Given the description of an element on the screen output the (x, y) to click on. 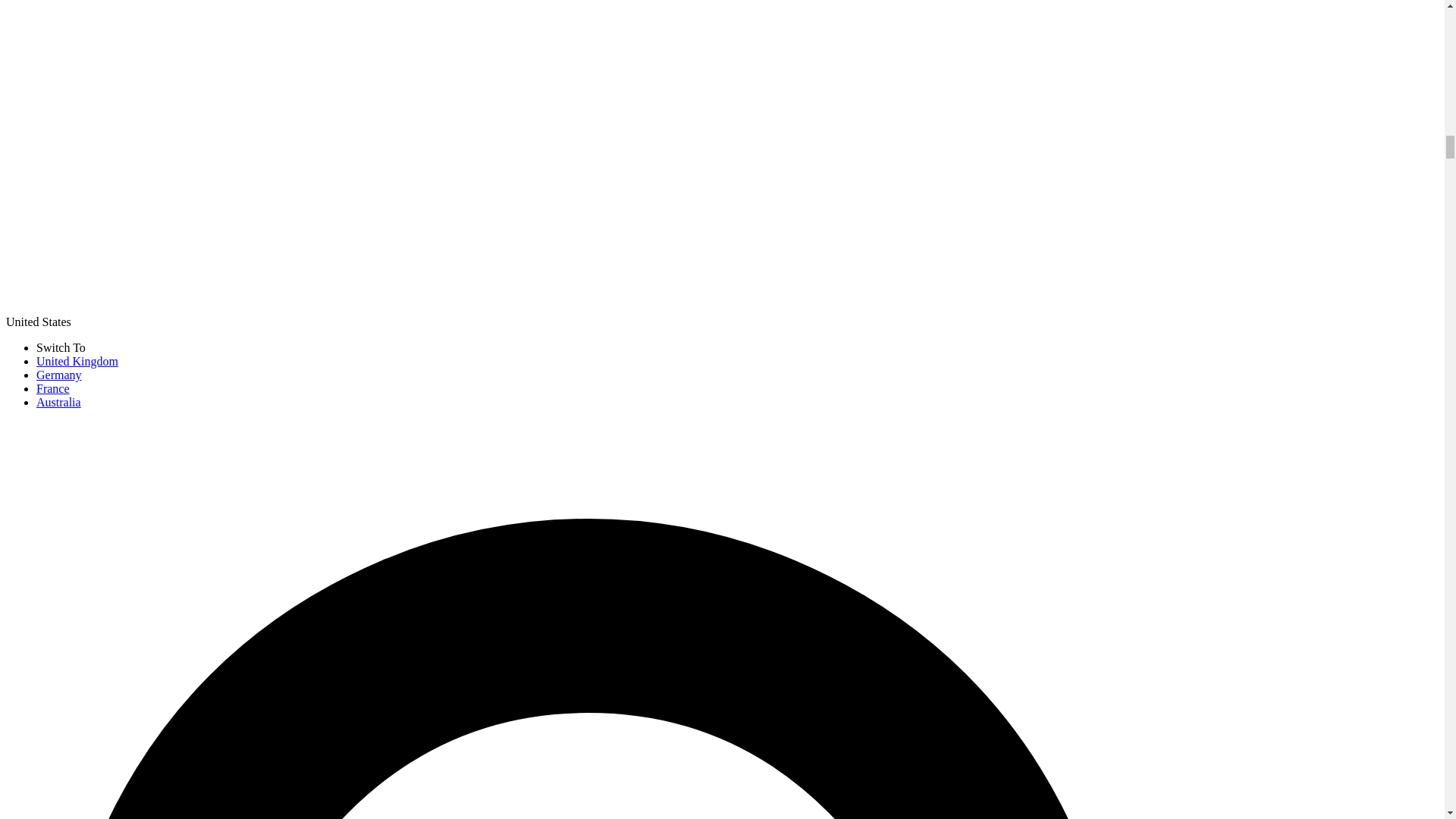
France (52, 388)
Germany (58, 374)
United Kingdom (76, 360)
Australia (58, 401)
